Given the description of an element on the screen output the (x, y) to click on. 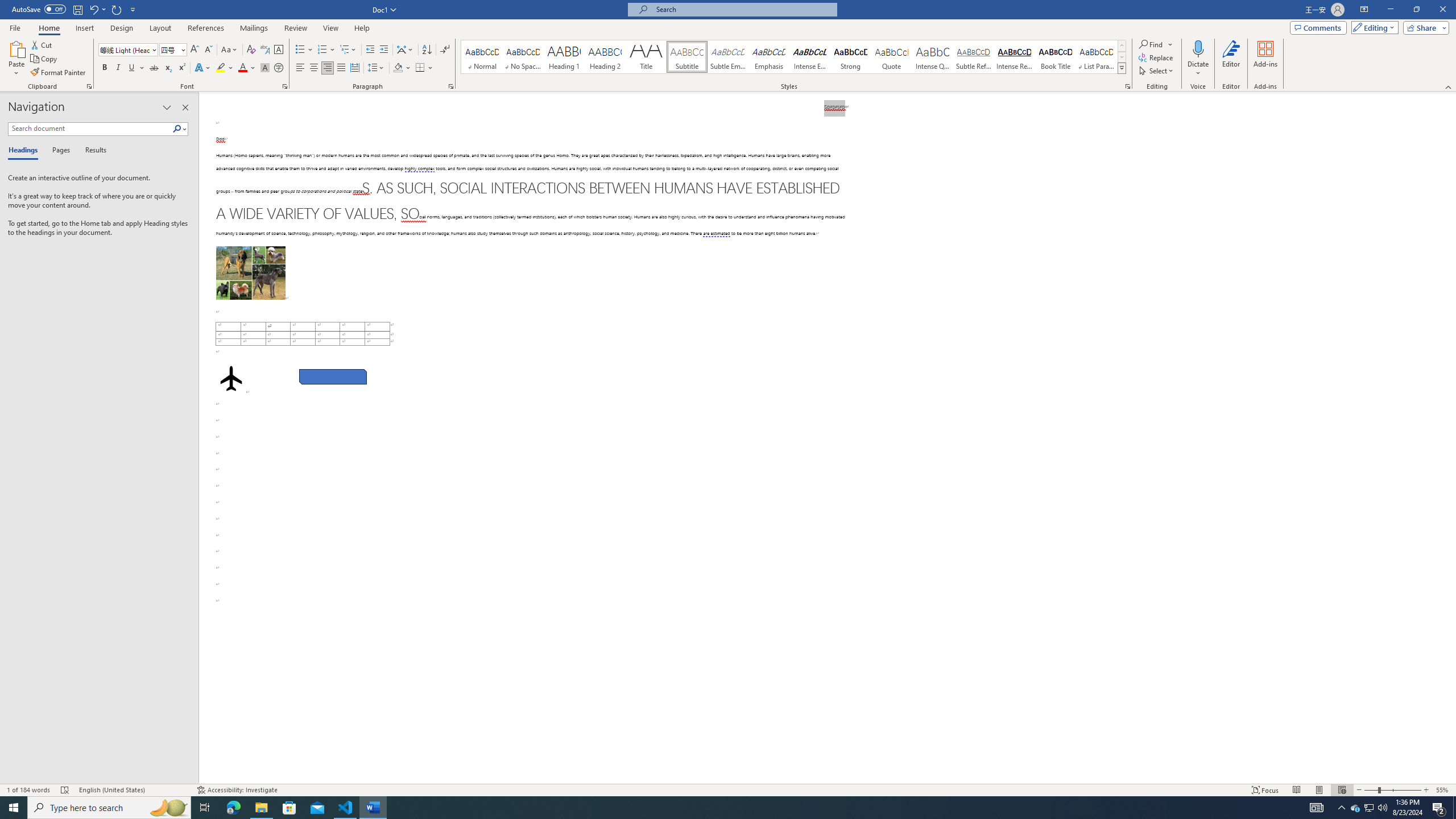
Decrease Indent (370, 49)
Subtle Reference (973, 56)
Search document (89, 128)
AutoSave (38, 9)
Subscript (167, 67)
Customize Quick Access Toolbar (133, 9)
Shrink Font (208, 49)
Increase Indent (383, 49)
Zoom In (1426, 790)
Superscript (180, 67)
Distributed (354, 67)
Undo Paragraph Alignment (92, 9)
References (205, 28)
Class: MsoCommandBar (728, 789)
